Given the description of an element on the screen output the (x, y) to click on. 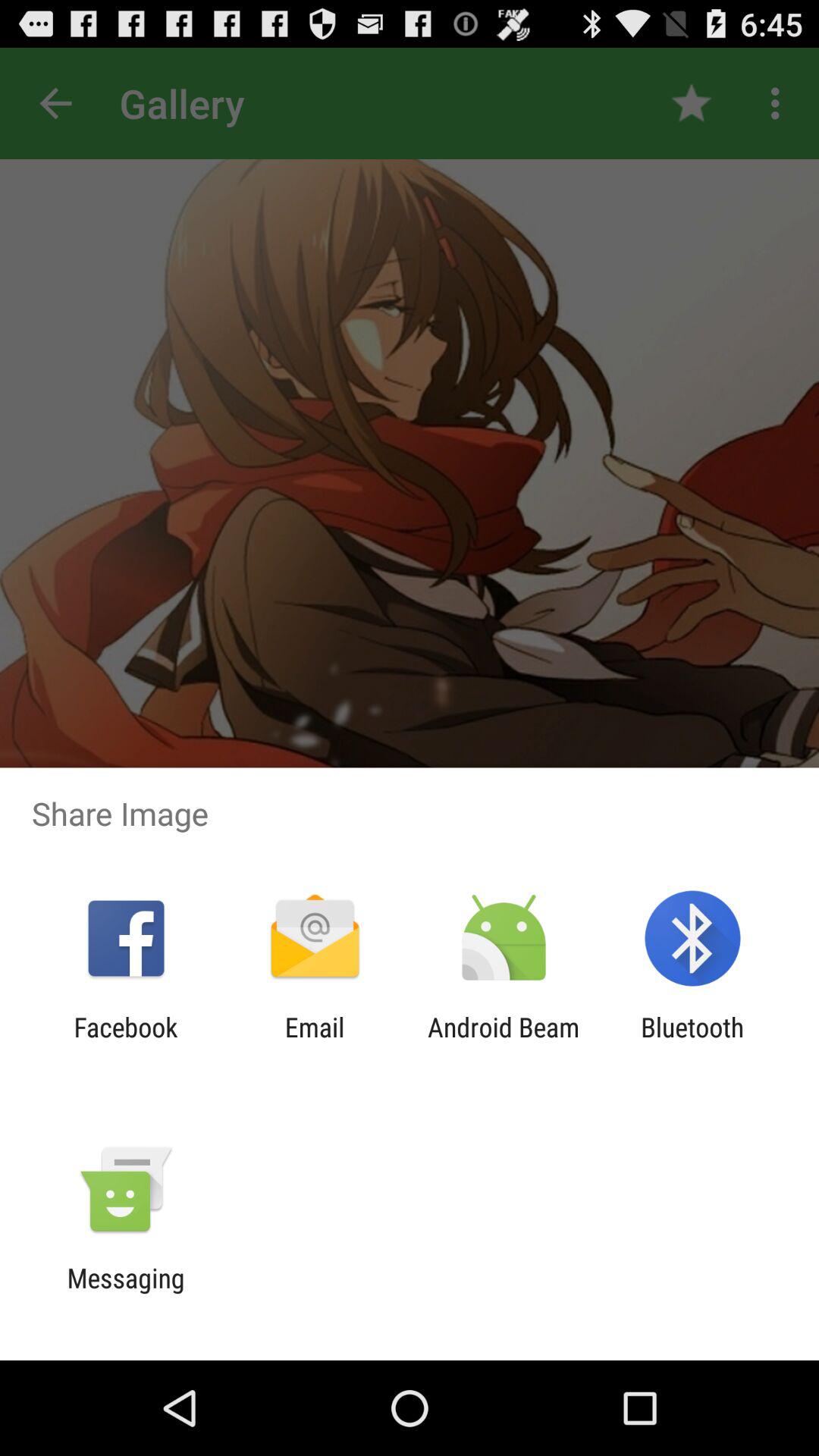
flip to messaging icon (125, 1293)
